Given the description of an element on the screen output the (x, y) to click on. 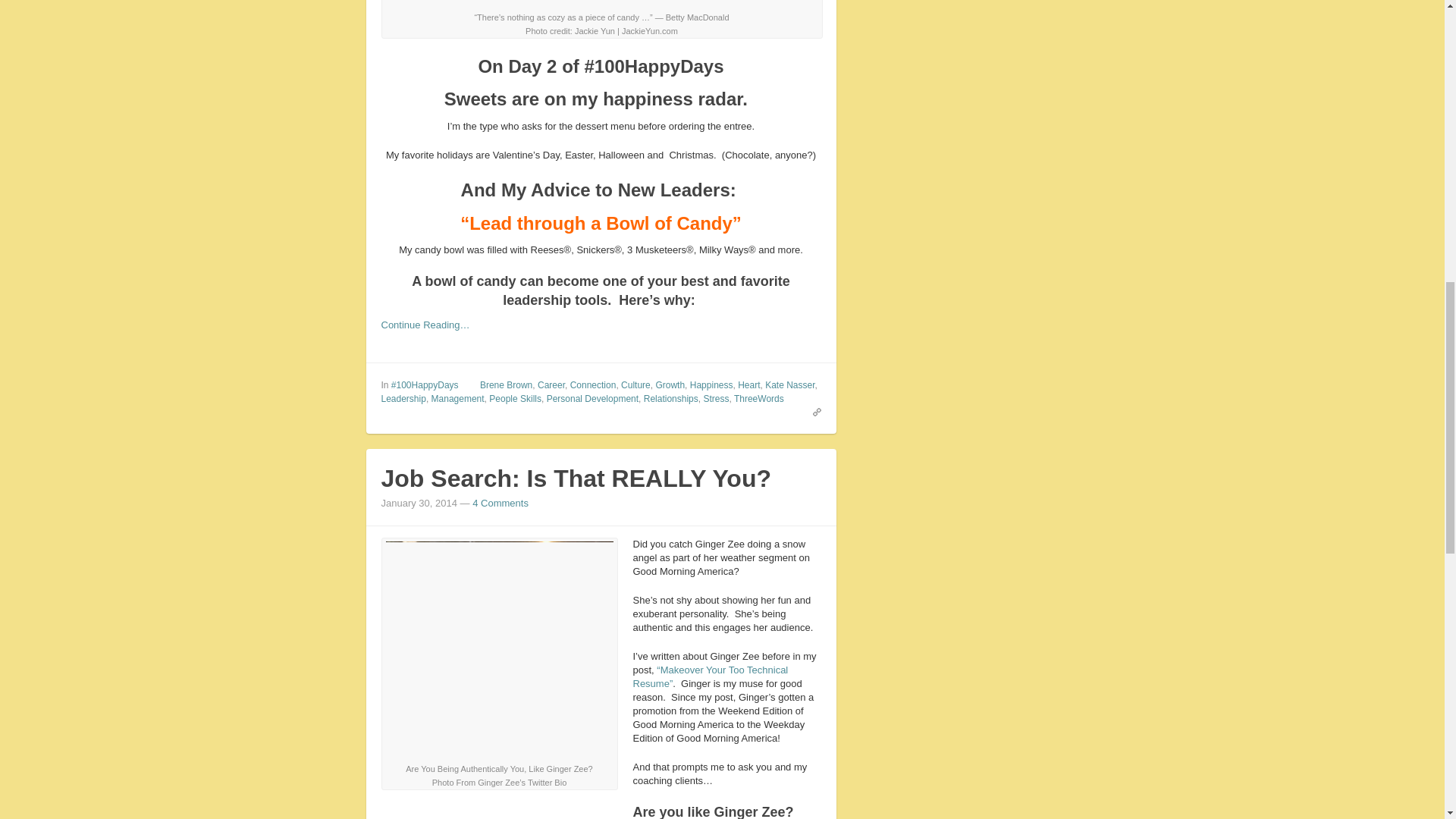
People Skills (515, 398)
Brene Brown (506, 385)
Personal Development (593, 398)
Connection (592, 385)
Culture (635, 385)
Growth (669, 385)
Management (457, 398)
ThreeWords (758, 398)
Heart (749, 385)
permalink  (813, 411)
Happiness (711, 385)
Leadership (402, 398)
Job Search: Is That REALLY You? (575, 478)
Career (550, 385)
Job Search: Is That REALLY You? (575, 478)
